Given the description of an element on the screen output the (x, y) to click on. 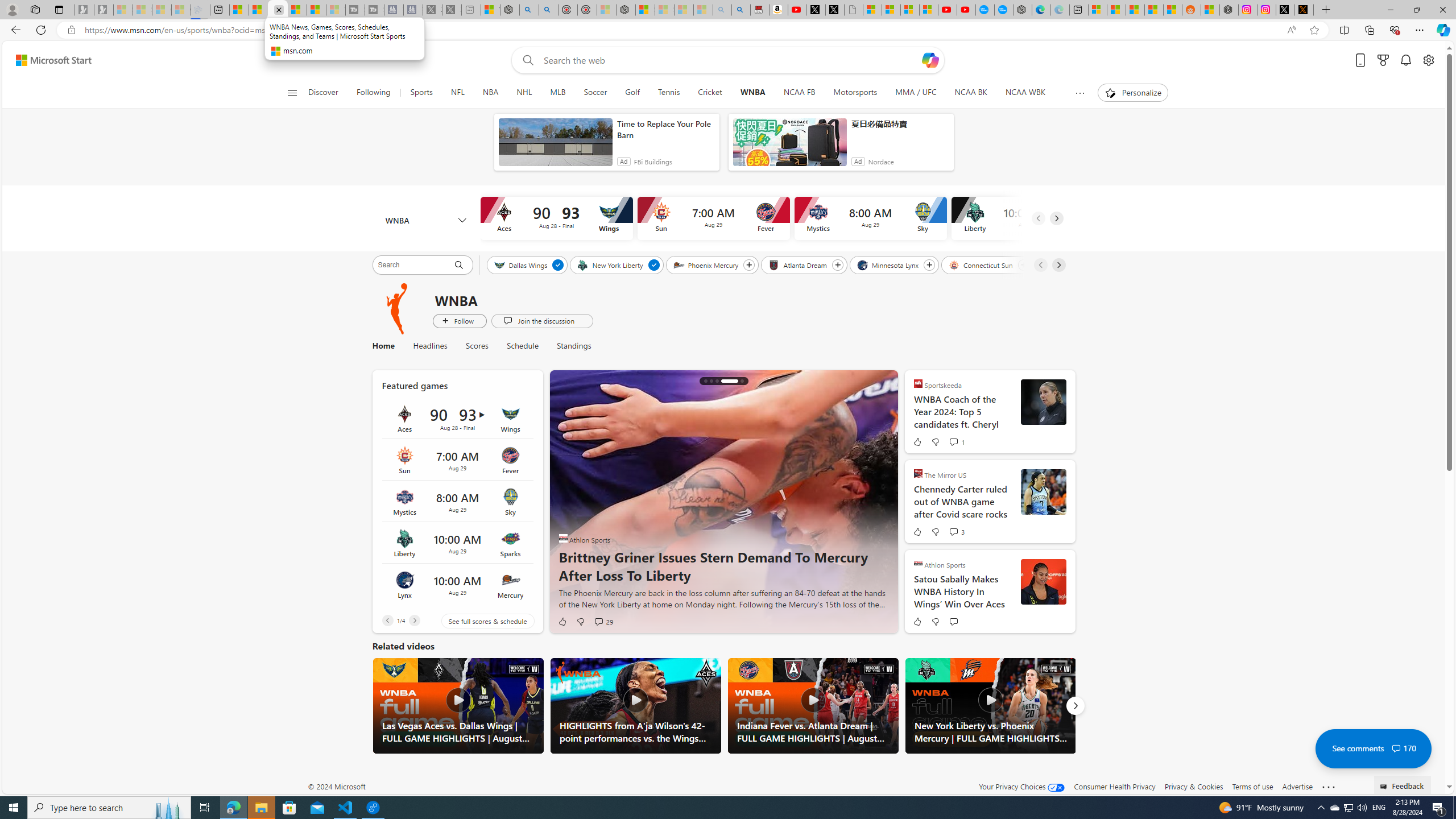
Consumer Health Privacy (1115, 785)
View comments 29 Comment (603, 621)
Headlines (430, 345)
See comments 170 (1372, 748)
Unfollow Dallas Wings (557, 265)
New tab - Sleeping (471, 9)
NFL (456, 92)
WNBA (397, 308)
